Given the description of an element on the screen output the (x, y) to click on. 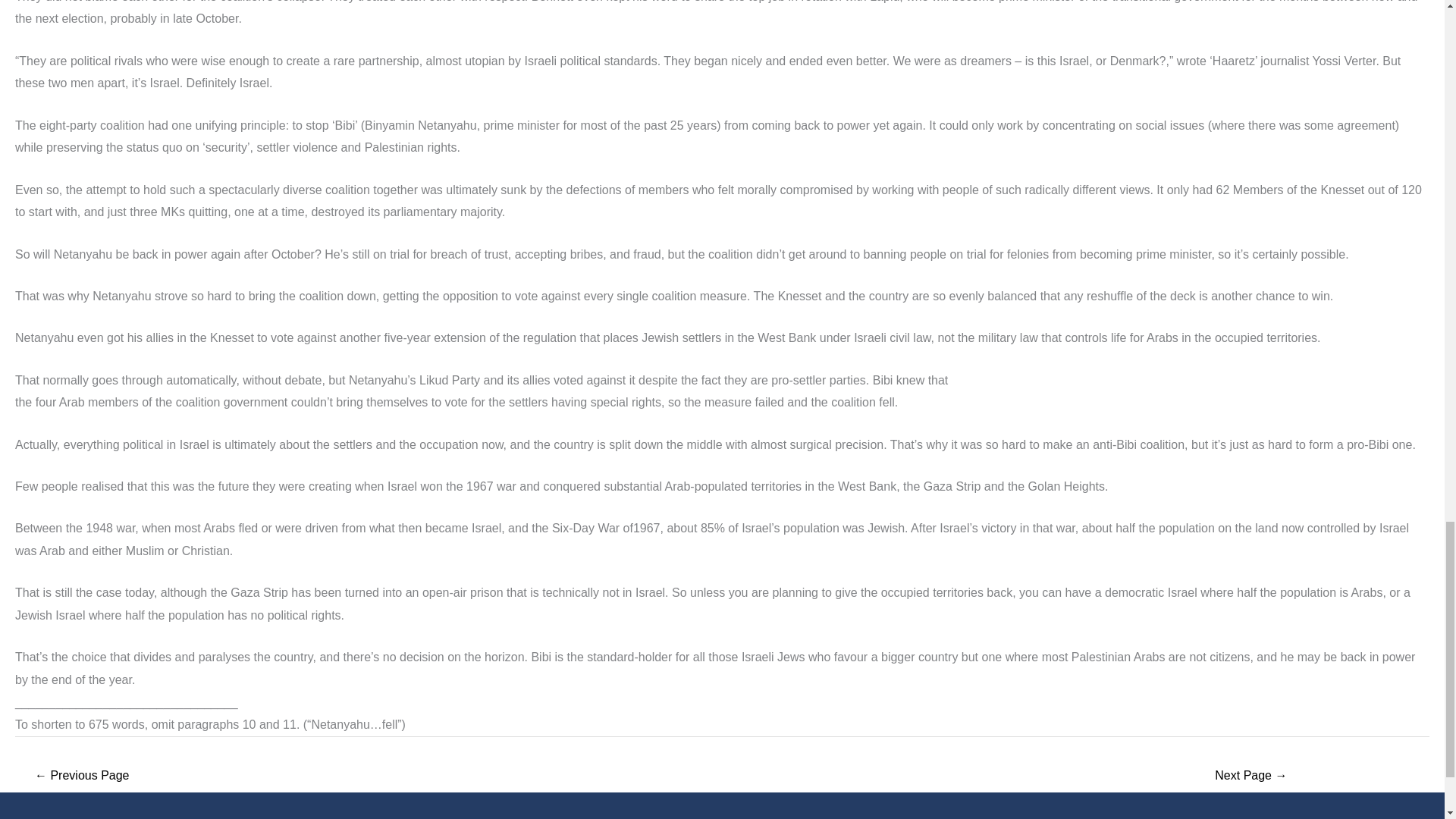
Welcome to Gilead! (1251, 776)
The Russian Vaccine (82, 776)
